Given the description of an element on the screen output the (x, y) to click on. 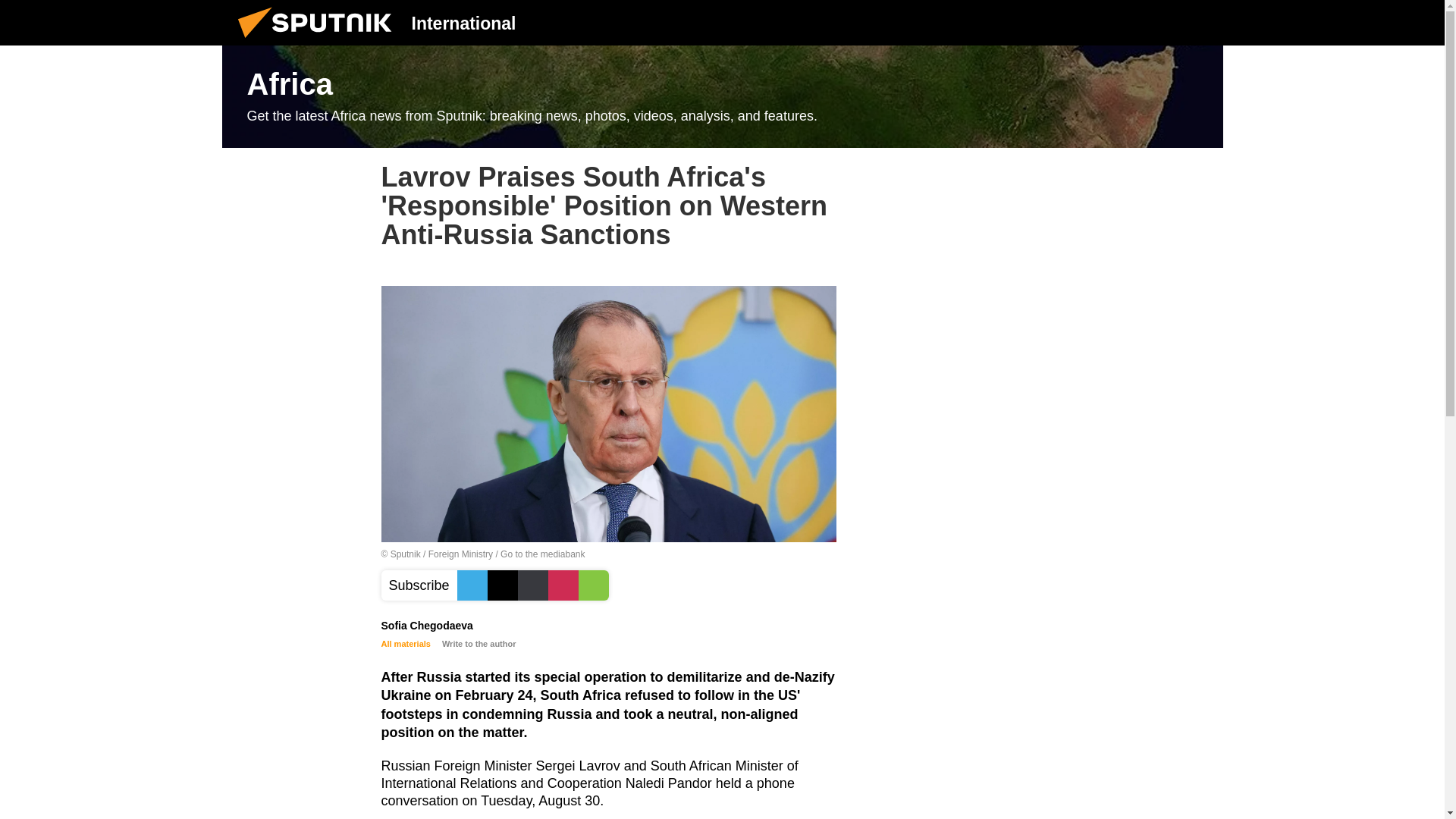
Africa (722, 96)
Authorization (1123, 22)
Chats (1199, 22)
Sputnik International (319, 41)
